Given the description of an element on the screen output the (x, y) to click on. 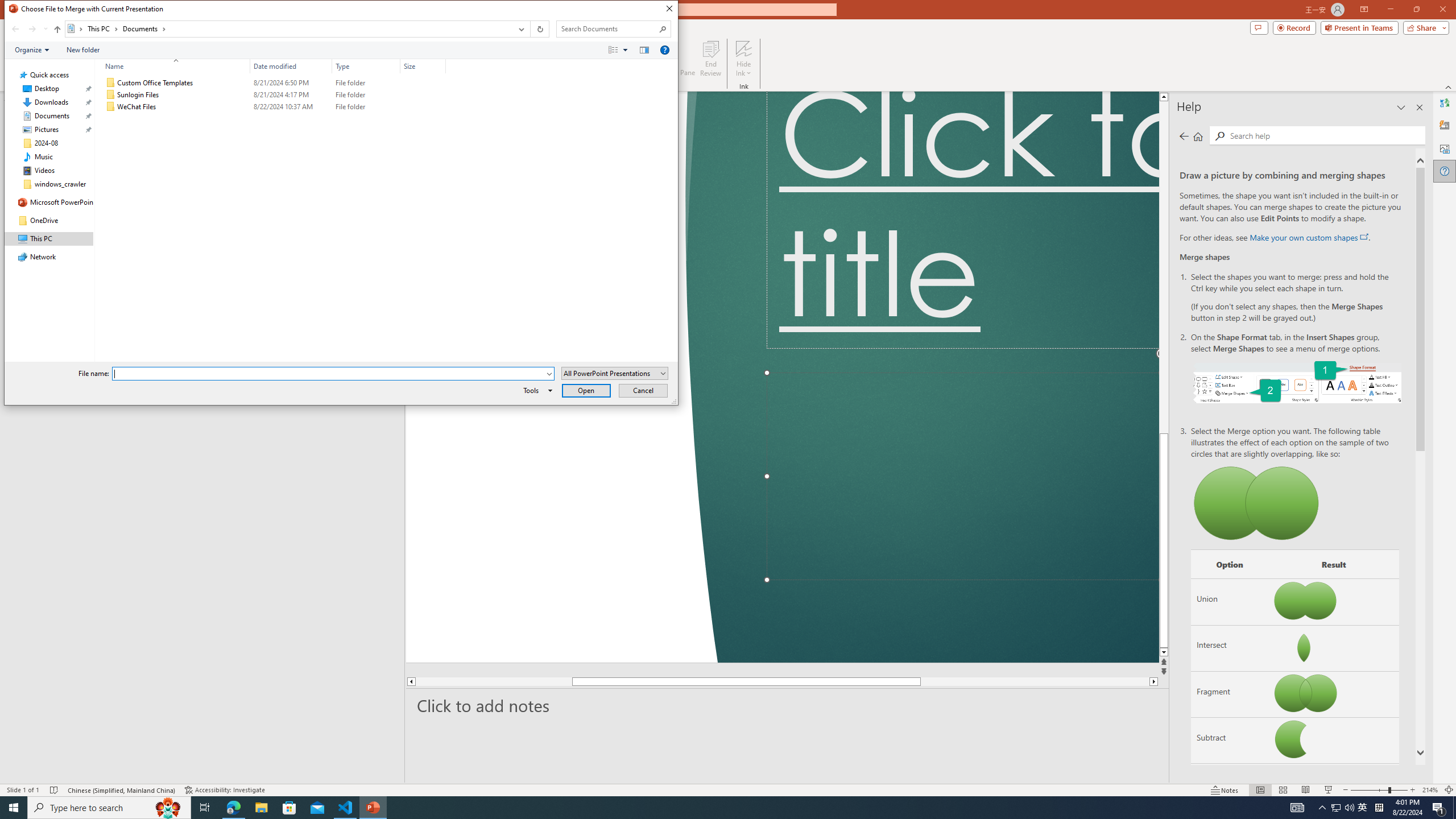
&Help (664, 49)
Previous page (1183, 136)
Subtitle TextBox (962, 476)
Action Center, 1 new notification (1439, 807)
Subtract (1229, 740)
Microsoft Edge - 1 running window (233, 807)
Name (173, 65)
Address band toolbar (529, 28)
Search Box (607, 28)
